Given the description of an element on the screen output the (x, y) to click on. 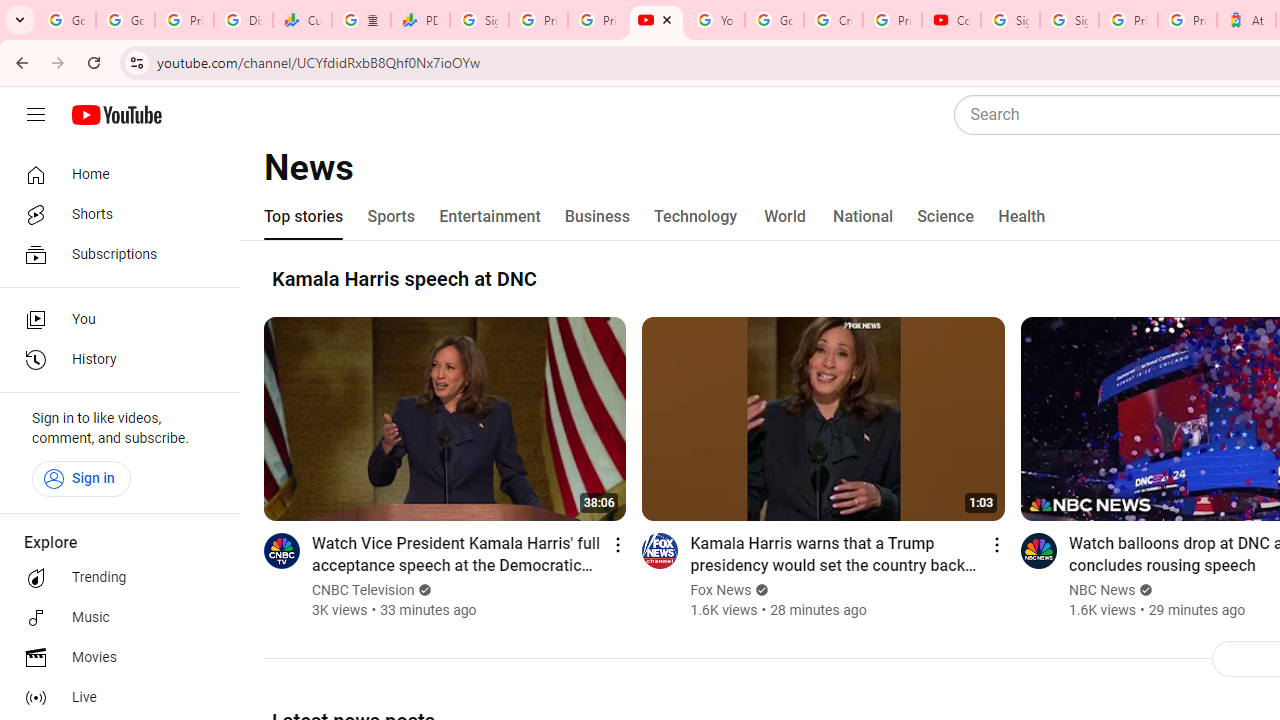
Action menu (996, 544)
Movies (113, 657)
Verified (1144, 590)
Sports (391, 216)
Sign in - Google Accounts (1069, 20)
Google Workspace Admin Community (66, 20)
Trending (113, 578)
Content Creator Programs & Opportunities - YouTube Creators (950, 20)
